Given the description of an element on the screen output the (x, y) to click on. 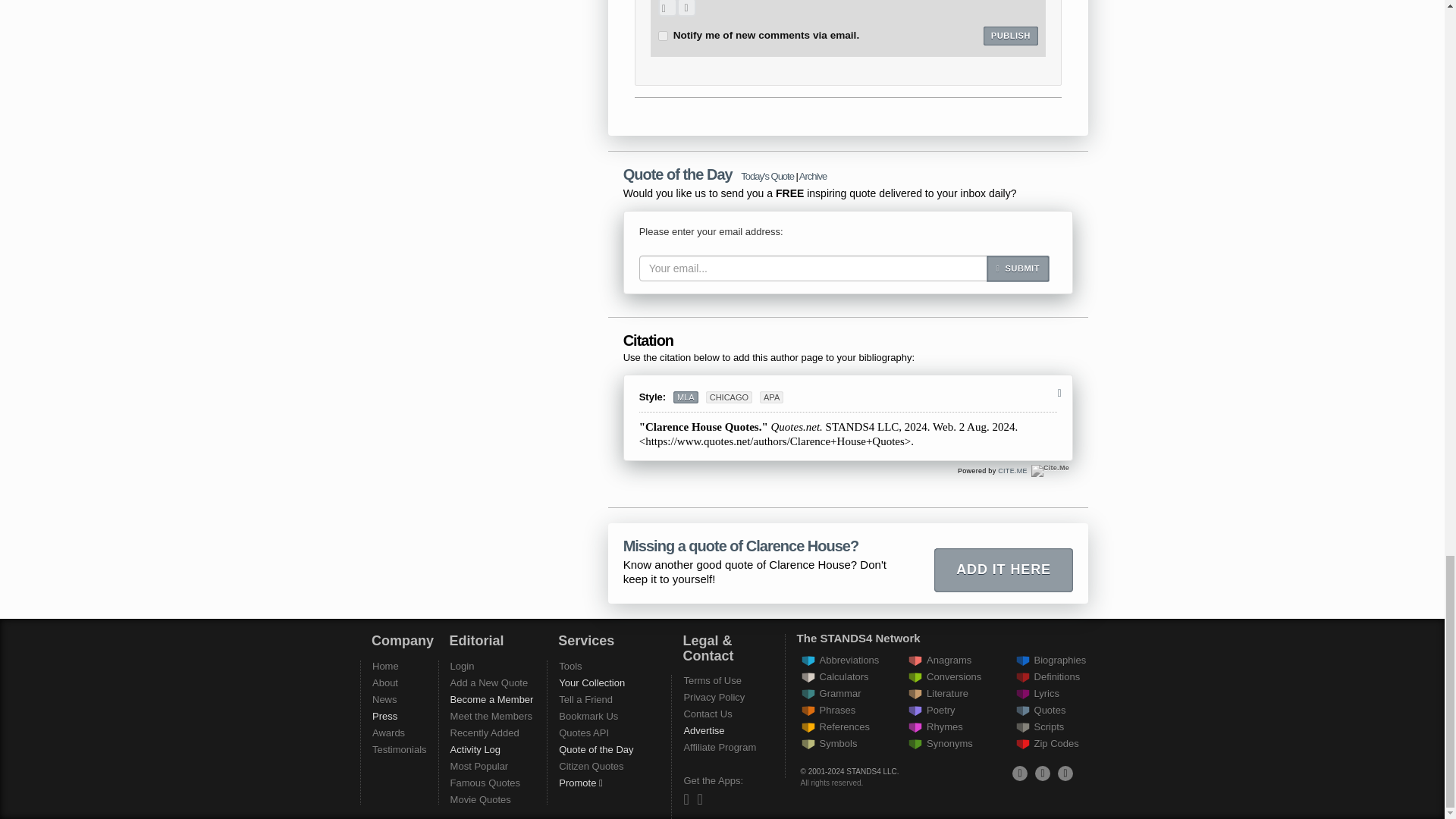
Cite.Me (1050, 470)
Record a sound (686, 8)
Cite.Me (1049, 470)
on (663, 35)
Upload an image (667, 8)
Cite.Me (1012, 470)
